Given the description of an element on the screen output the (x, y) to click on. 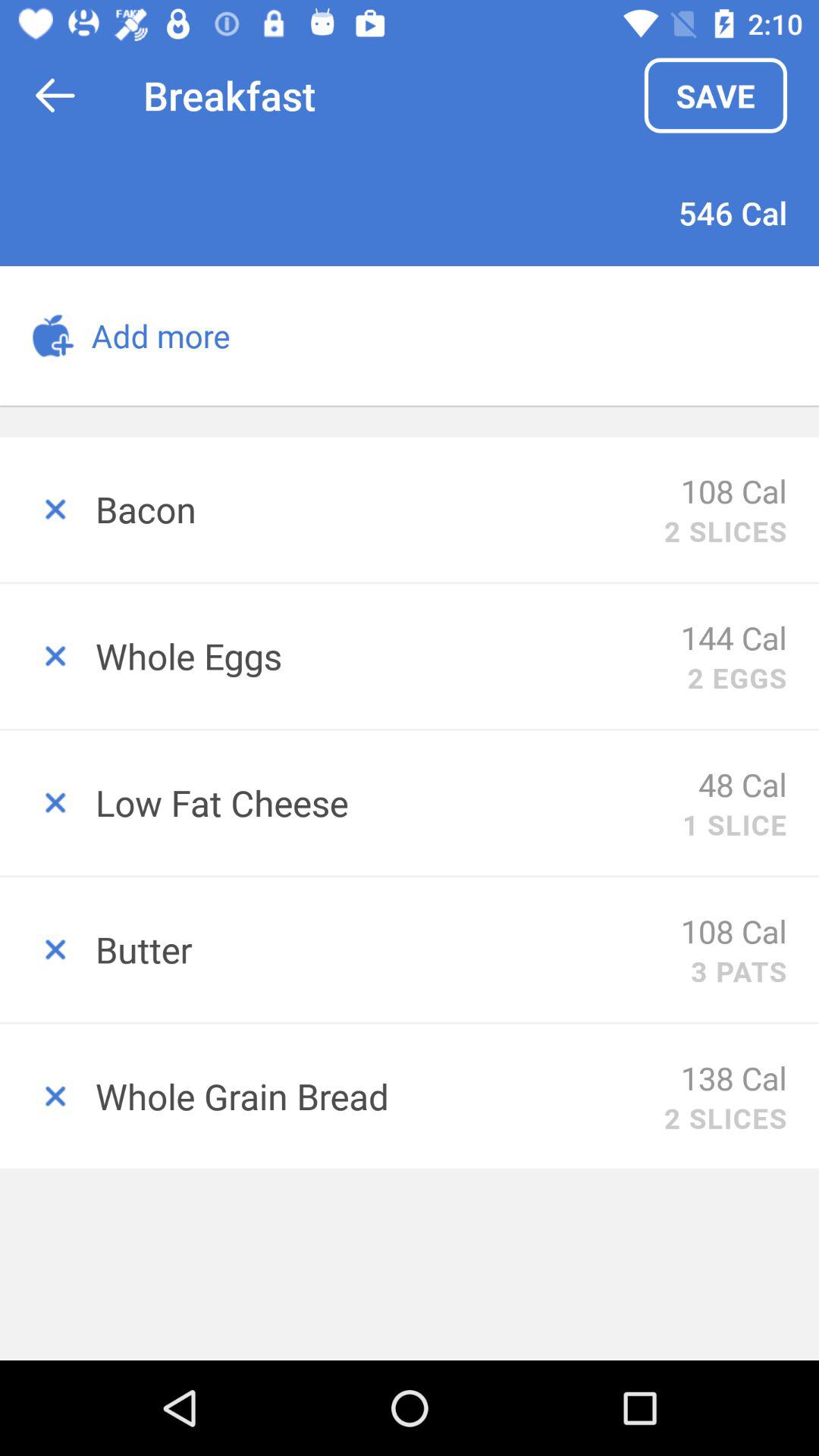
press the item below 2 slices item (733, 637)
